Given the description of an element on the screen output the (x, y) to click on. 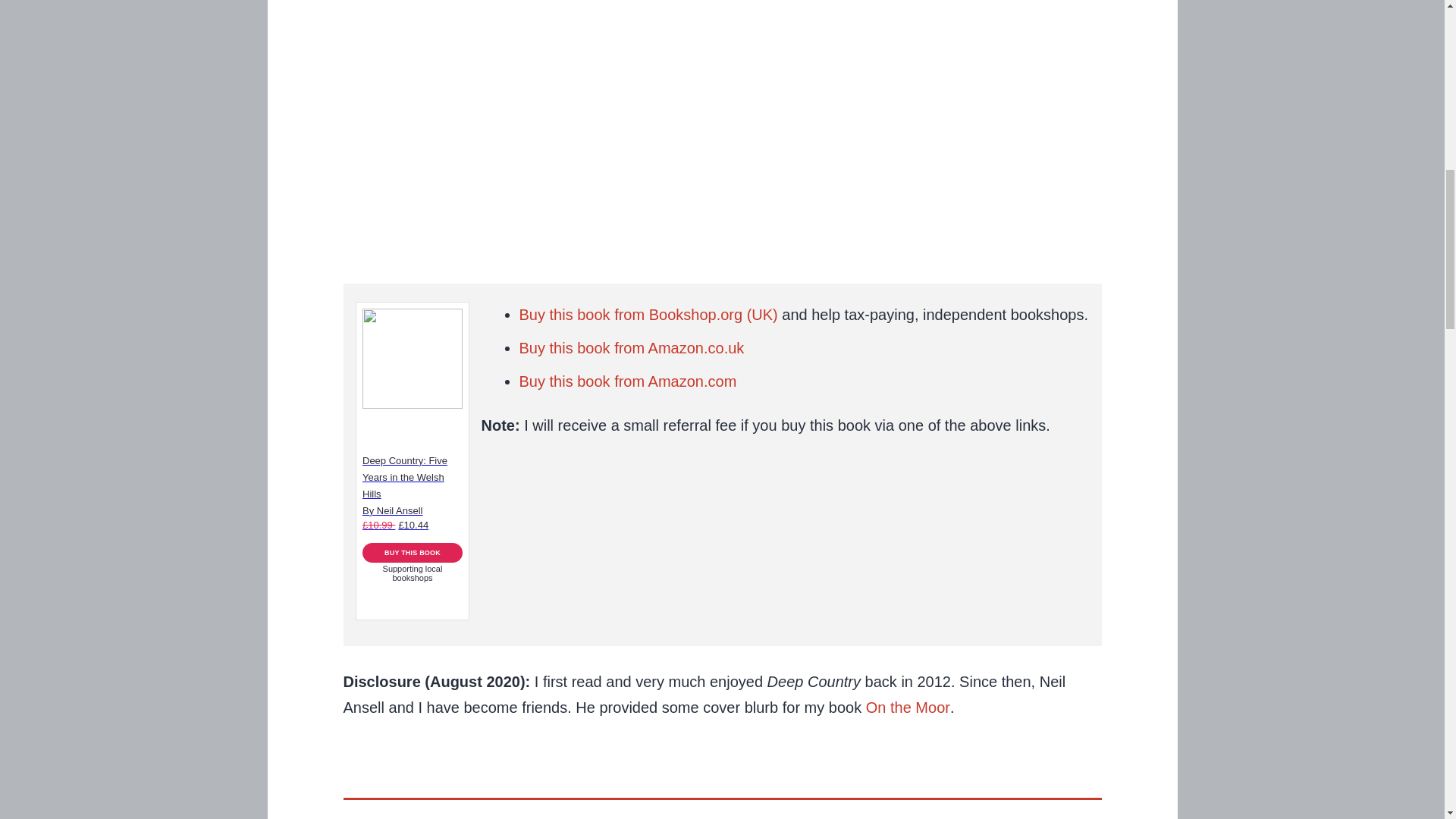
Buy this book from Amazon.co.uk (631, 347)
On the Moor (908, 707)
Buy this book from Amazon.com (627, 381)
